Given the description of an element on the screen output the (x, y) to click on. 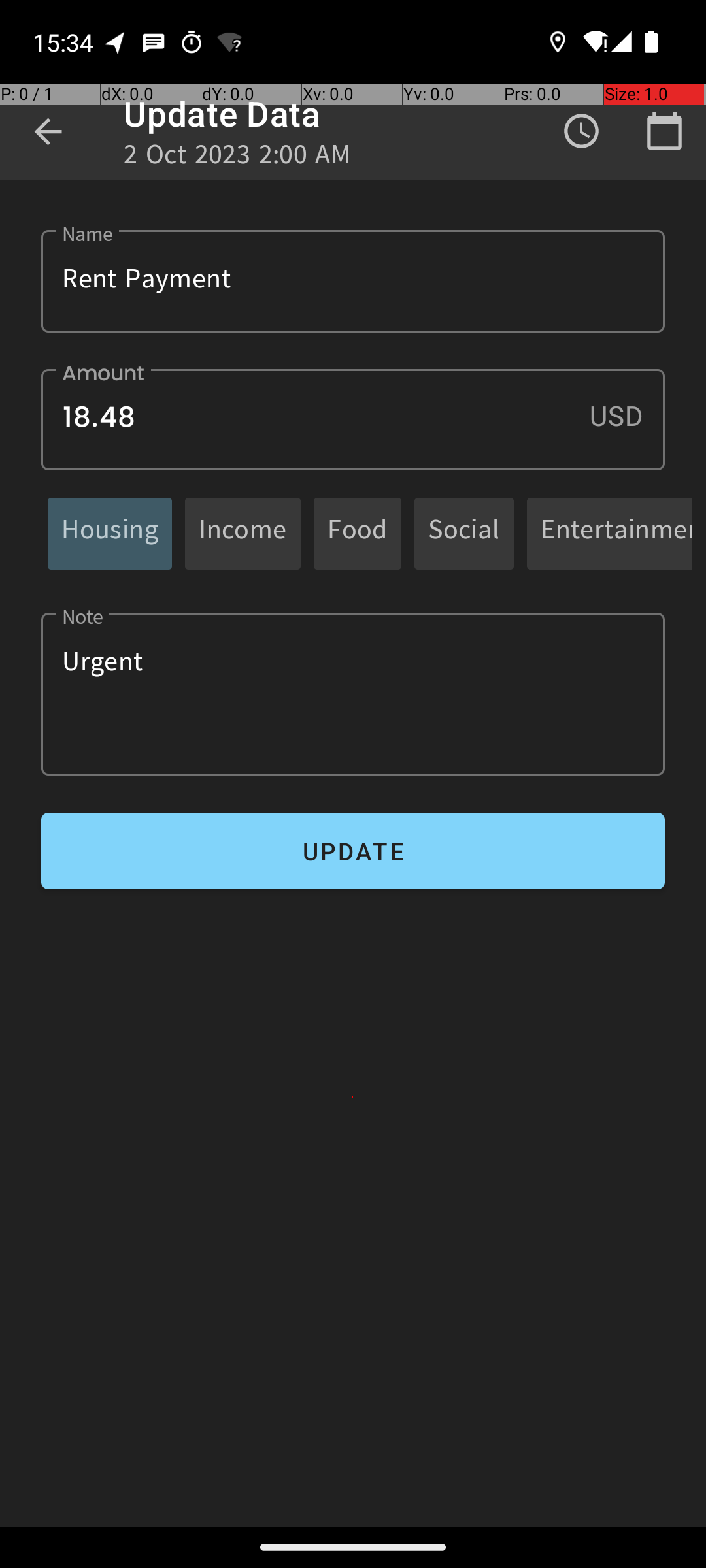
2 Oct 2023 2:00 AM Element type: android.widget.TextView (237, 157)
18.48 Element type: android.widget.EditText (352, 419)
